Given the description of an element on the screen output the (x, y) to click on. 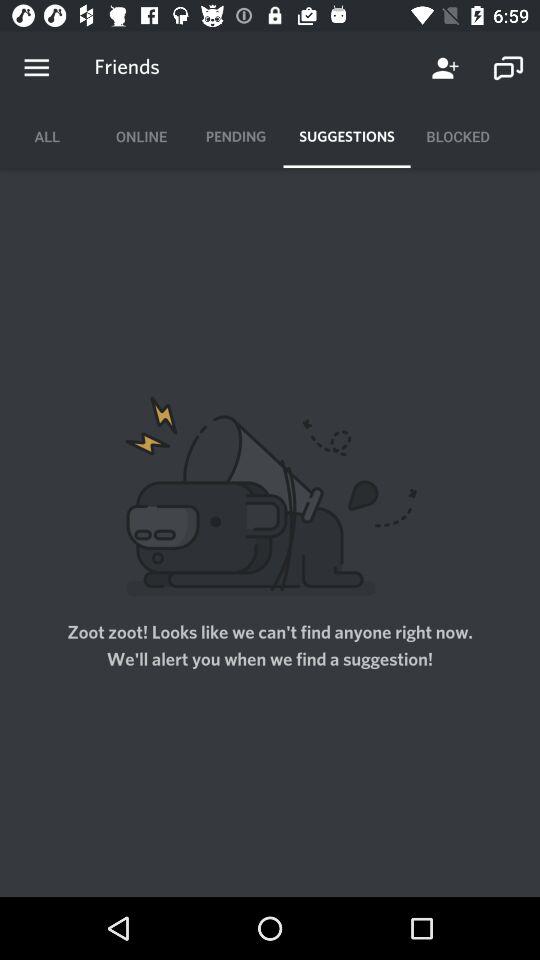
main menu (36, 68)
